Given the description of an element on the screen output the (x, y) to click on. 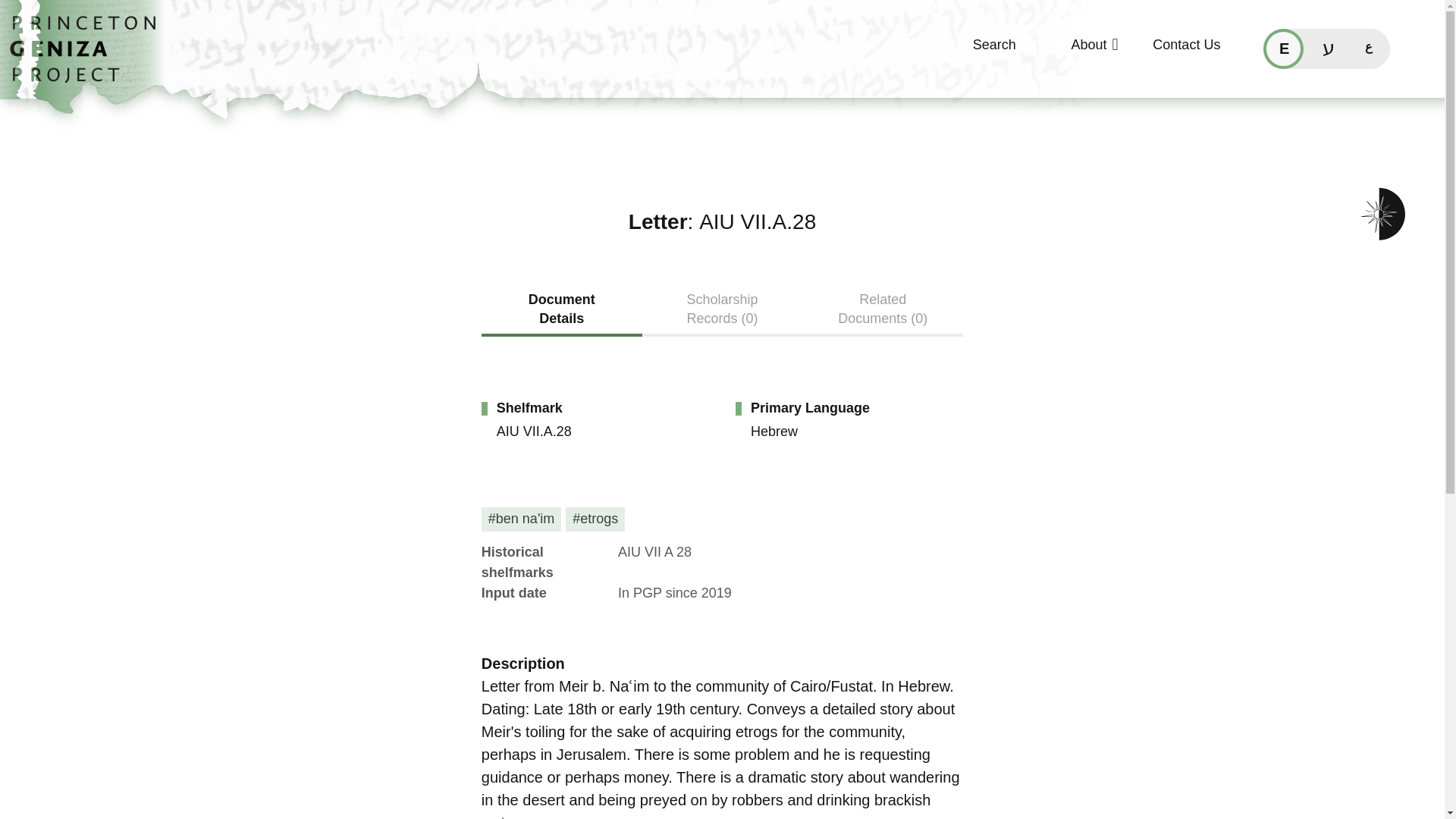
etrogs (595, 518)
Contact Us (1175, 52)
Document Details (561, 313)
Search (971, 52)
home (88, 56)
ben na'im (521, 518)
About (1073, 52)
